Given the description of an element on the screen output the (x, y) to click on. 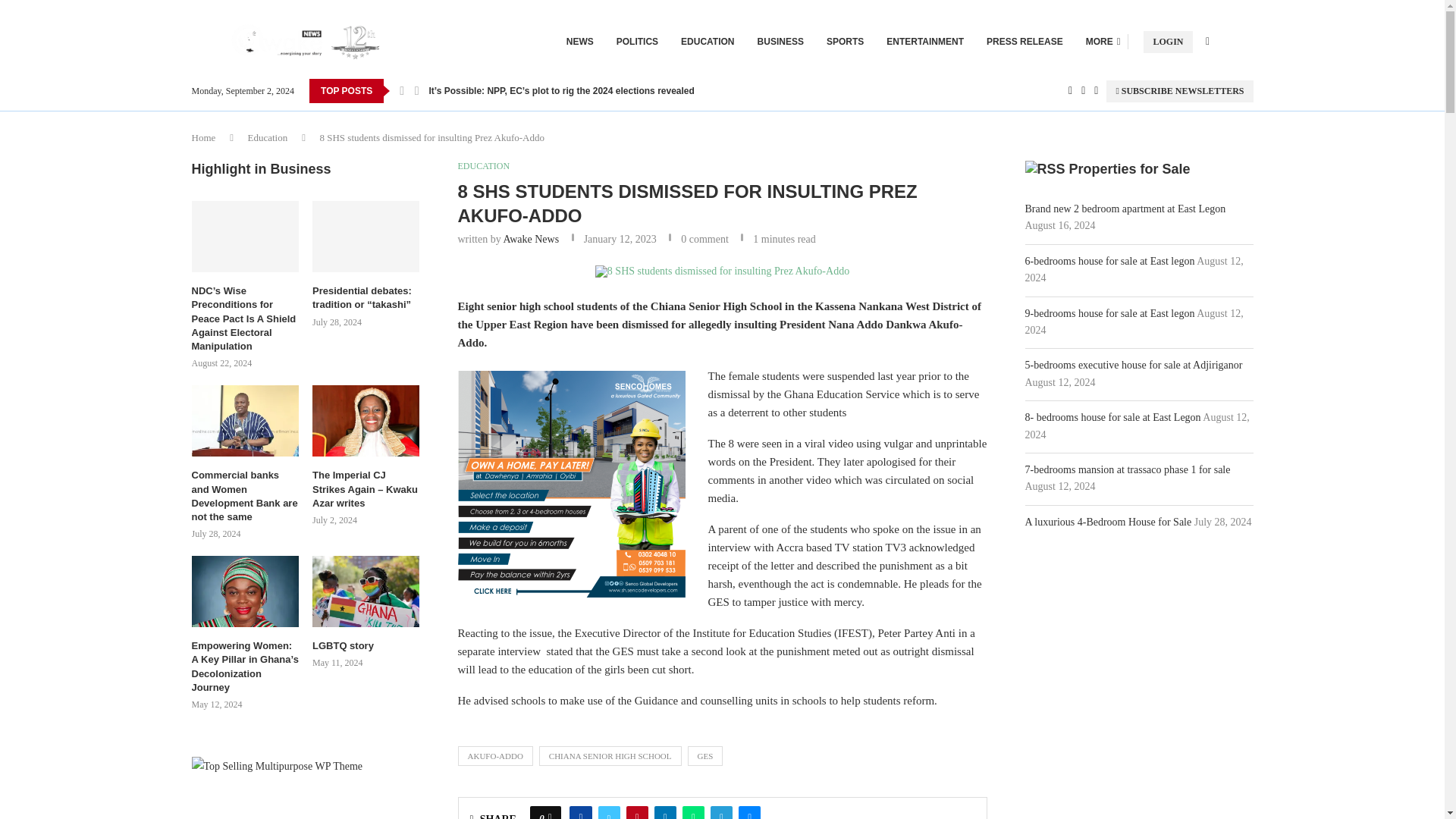
EDUCATION (707, 41)
BUSINESS (780, 41)
LOGIN (1167, 41)
PRESS RELEASE (1024, 41)
ENTERTAINMENT (924, 41)
Chiana (721, 271)
POLITICS (636, 41)
